Given the description of an element on the screen output the (x, y) to click on. 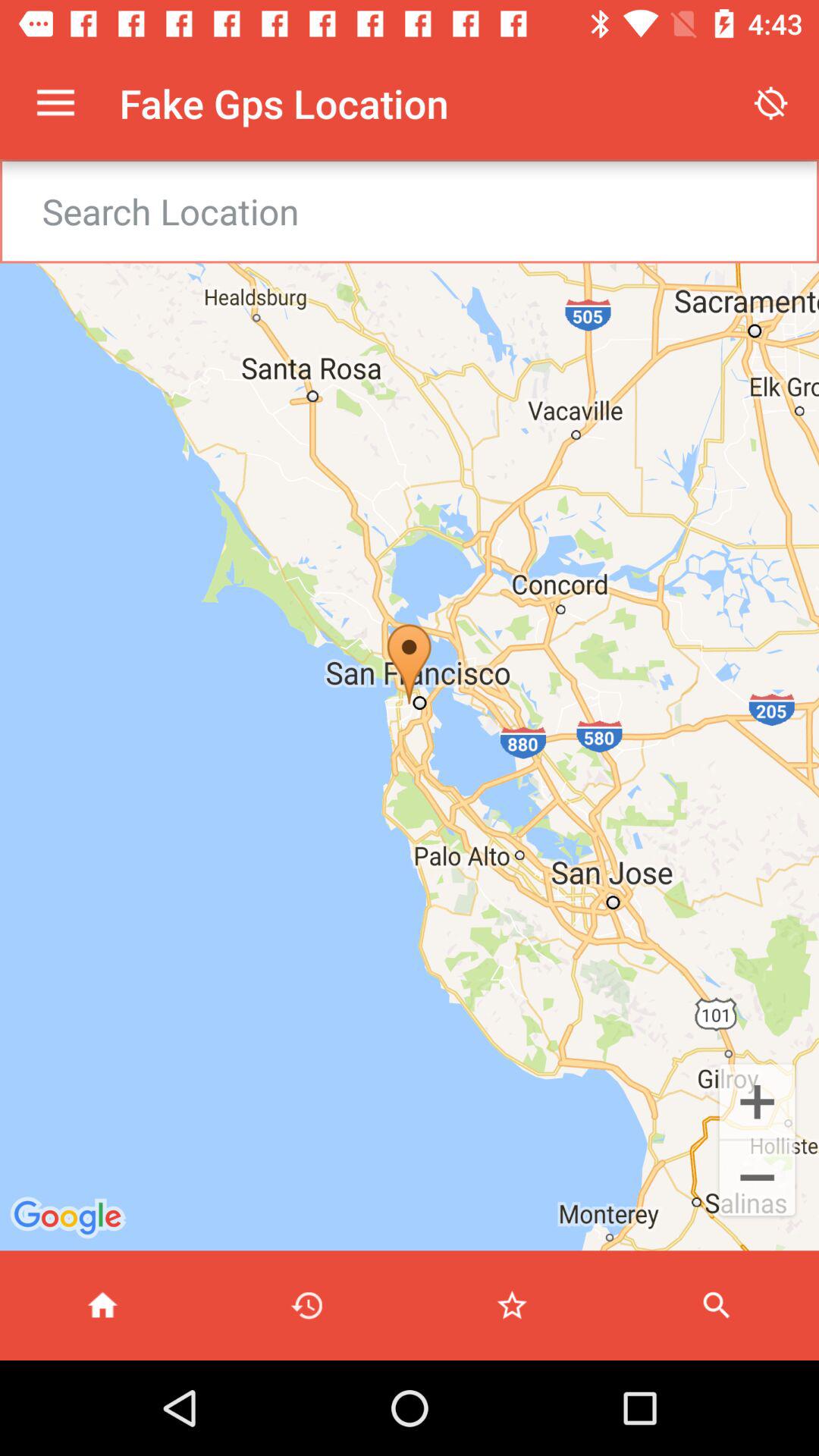
search textbox (429, 211)
